Given the description of an element on the screen output the (x, y) to click on. 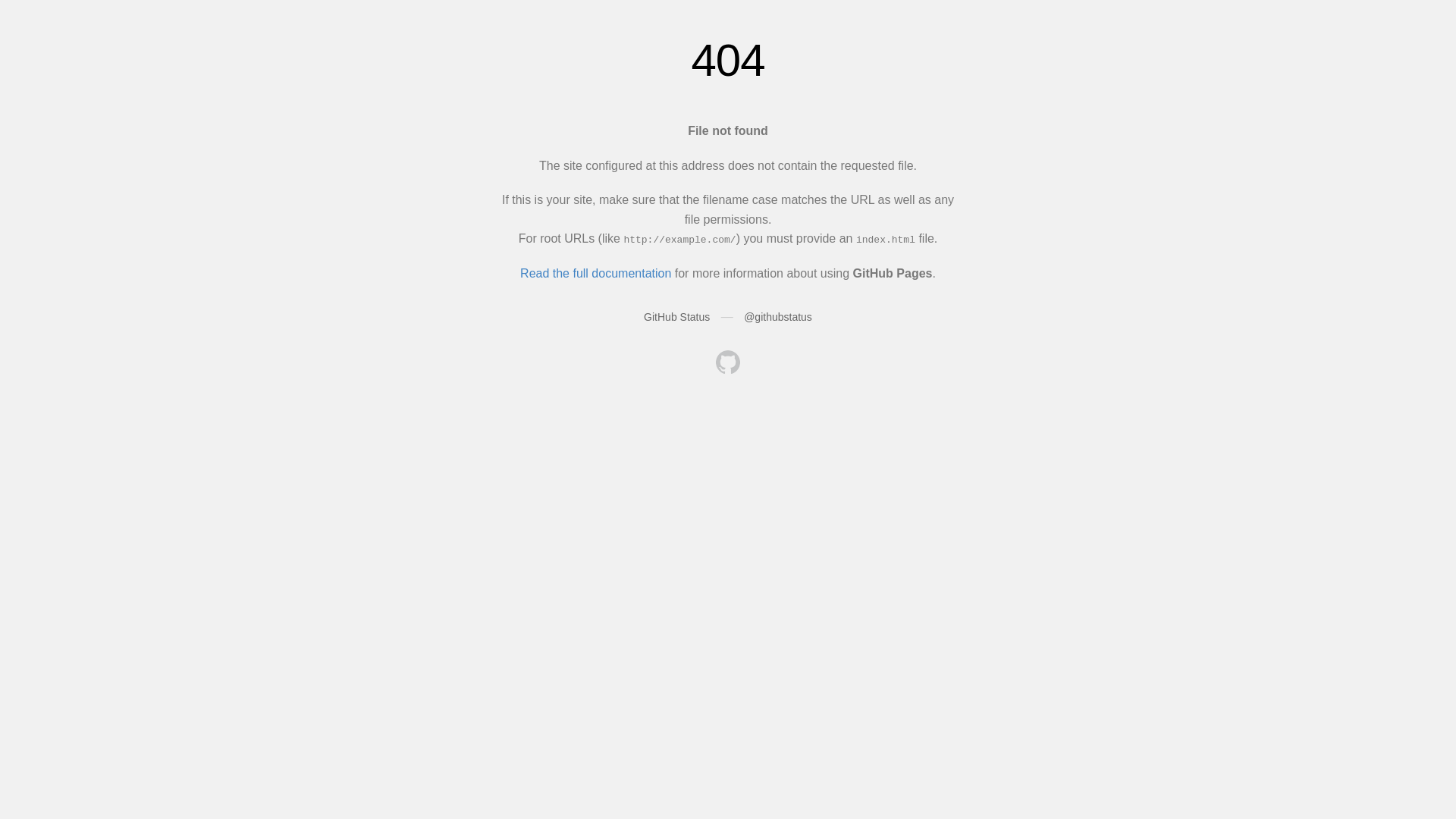
@githubstatus Element type: text (777, 316)
Read the full documentation Element type: text (595, 272)
GitHub Status Element type: text (676, 316)
